Given the description of an element on the screen output the (x, y) to click on. 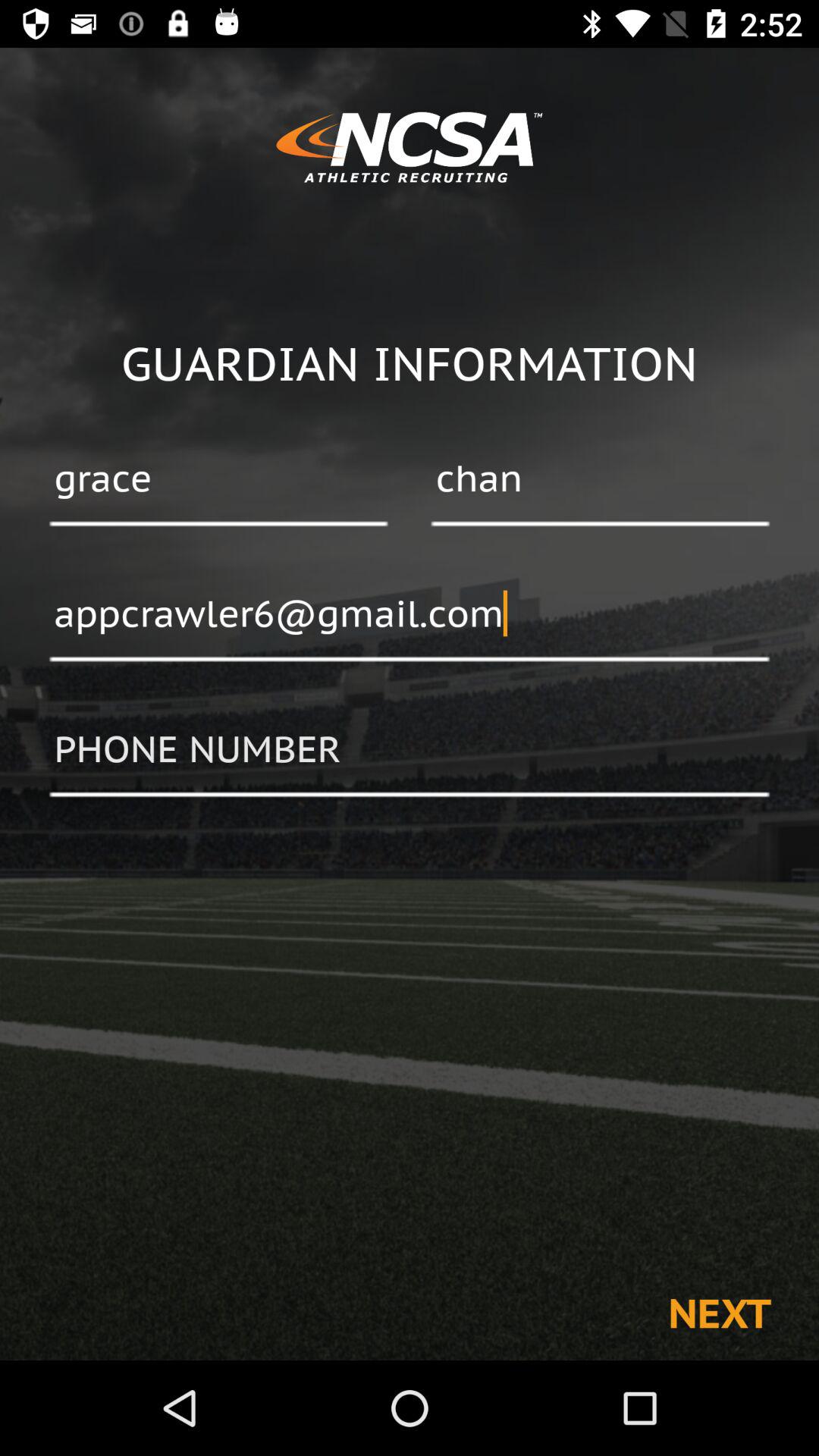
flip until chan icon (600, 479)
